Given the description of an element on the screen output the (x, y) to click on. 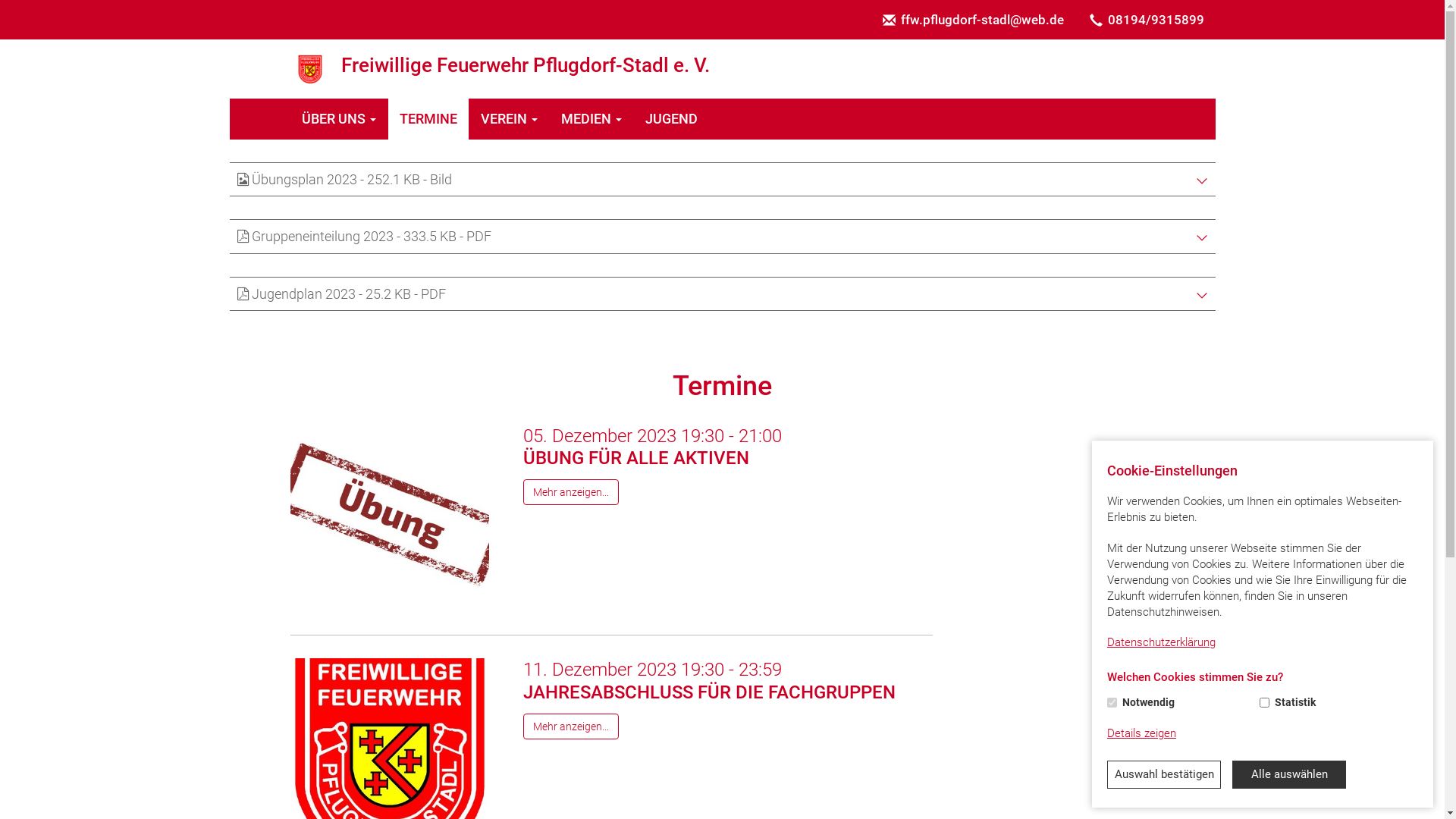
ffw.pflugdorf-stadl@web.de Element type: text (972, 19)
08194/9315899 Element type: text (1146, 19)
Gruppeneinteilung 2023 - 333.5 KB - PDF Element type: text (721, 236)
JUGEND Element type: text (671, 118)
Freiwillige Feuerwehr Pflugdorf-Stadl e. V. Element type: hover (309, 68)
Details zeigen Element type: text (1141, 733)
Freiwillige Feuerwehr Pflugdorf-Stadl e. V. Element type: text (721, 68)
MEDIEN Element type: text (591, 118)
VEREIN Element type: text (508, 118)
TERMINE Element type: text (428, 118)
Mehr anzeigen... Element type: text (570, 492)
Mehr anzeigen... Element type: text (570, 726)
Jugendplan 2023 - 25.2 KB - PDF Element type: text (721, 293)
